Given the description of an element on the screen output the (x, y) to click on. 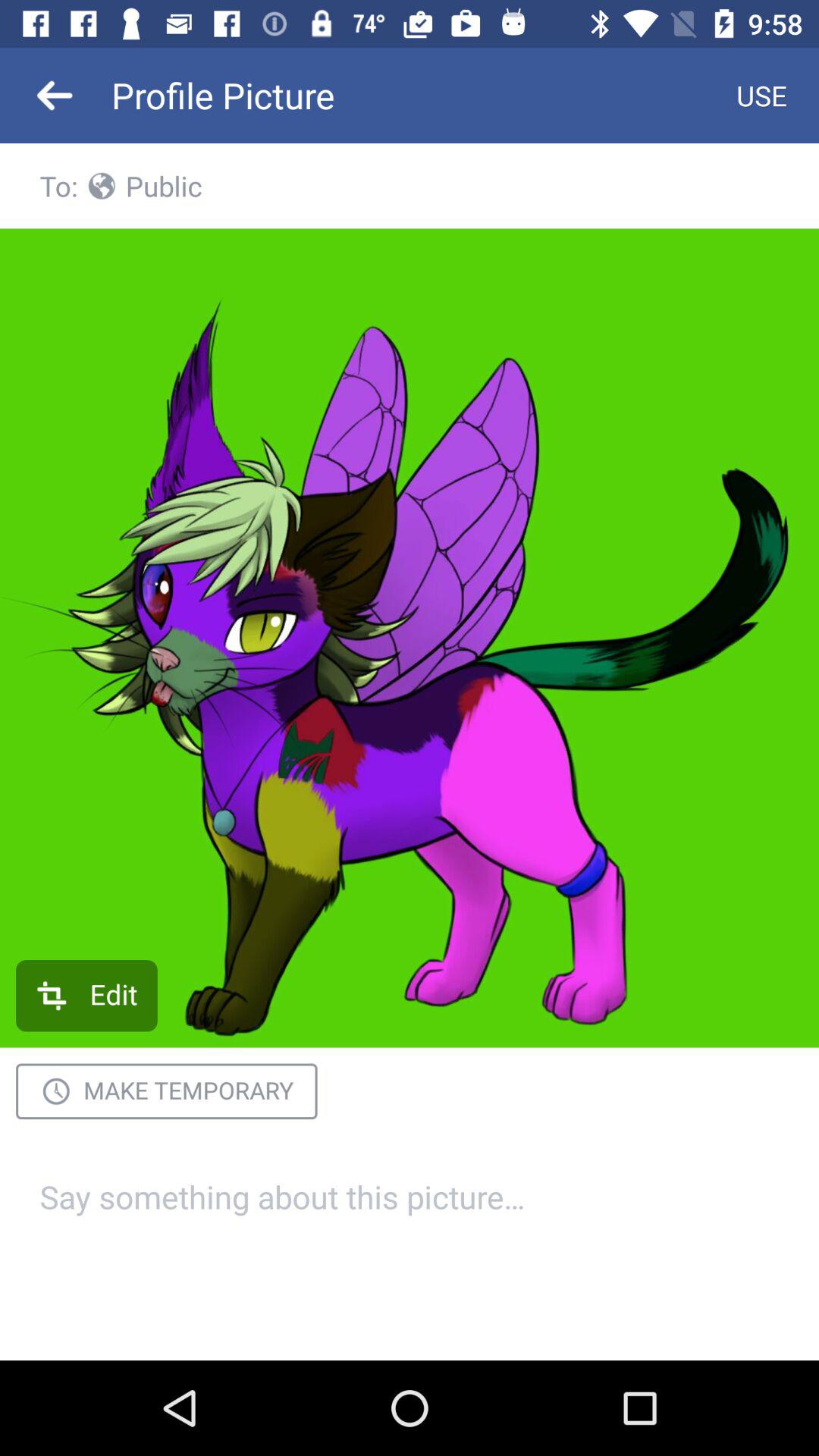
choose item at the top right corner (761, 95)
